Given the description of an element on the screen output the (x, y) to click on. 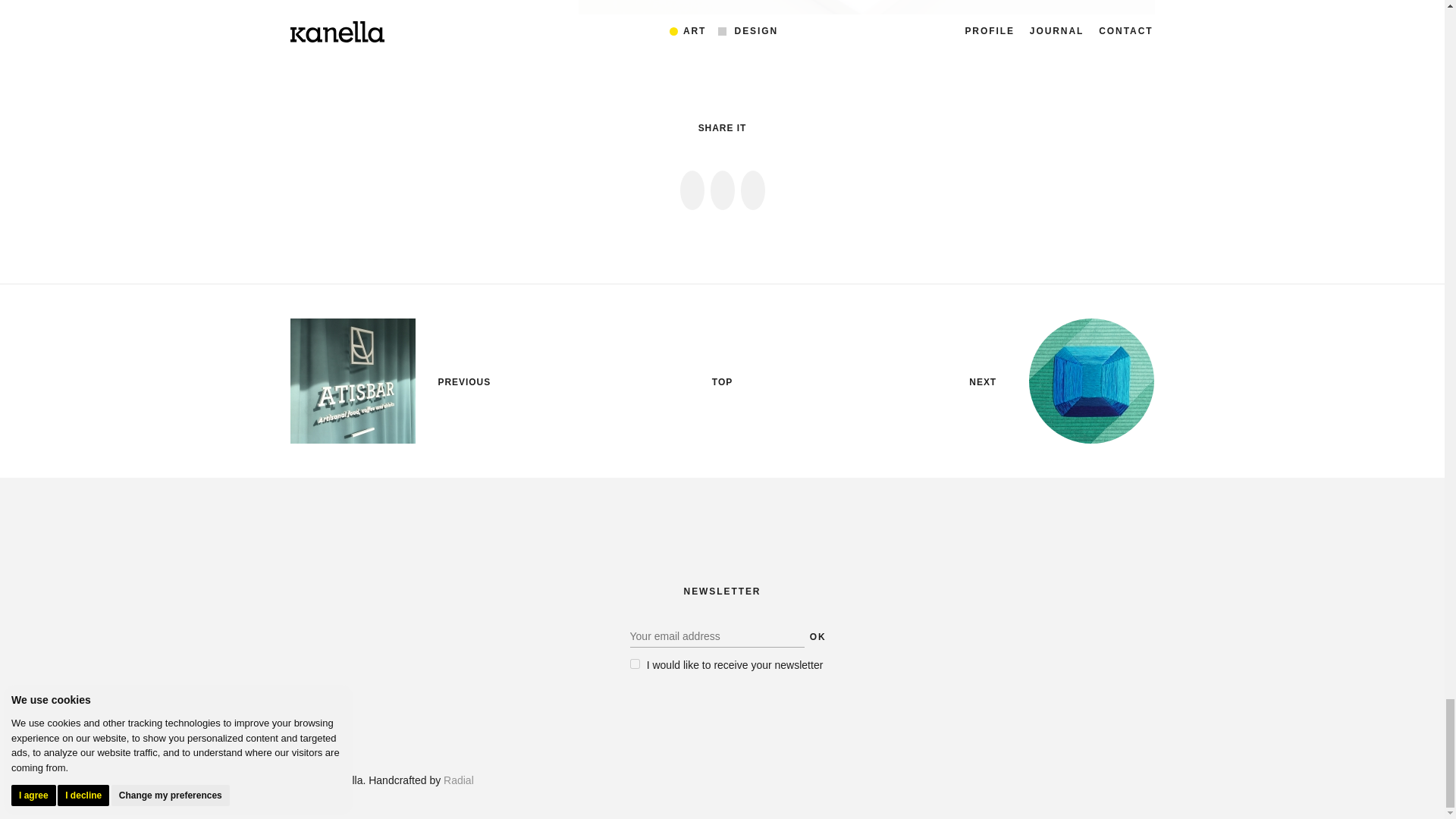
OK (818, 636)
PREVIOUS (464, 382)
NEXT (982, 382)
Radial (459, 779)
OK (818, 636)
on (633, 664)
